Given the description of an element on the screen output the (x, y) to click on. 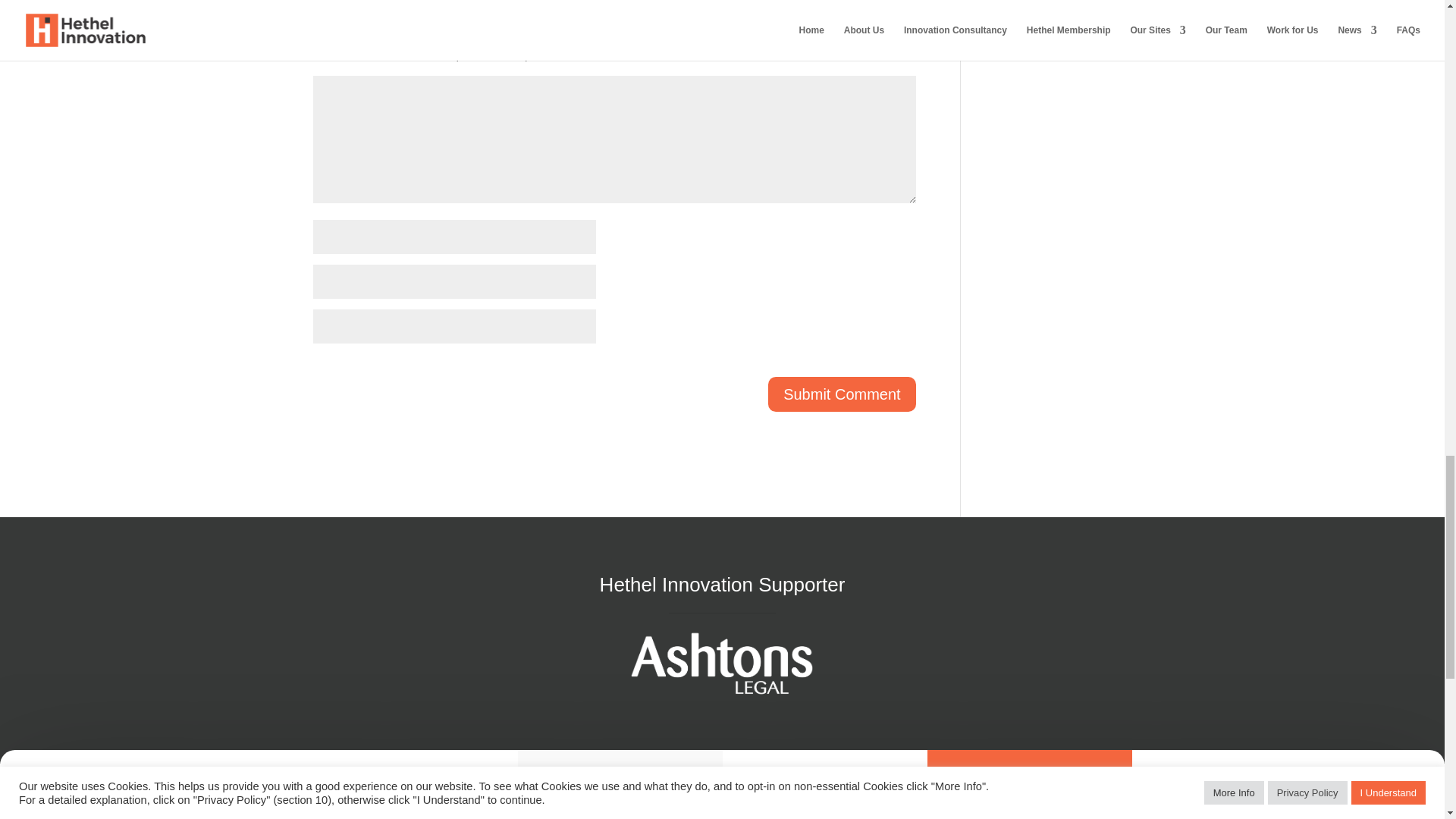
Submit Comment (841, 393)
Follow on X (1000, 811)
Follow on Instagram (1052, 811)
Submit Comment (841, 393)
White large (721, 662)
